Given the description of an element on the screen output the (x, y) to click on. 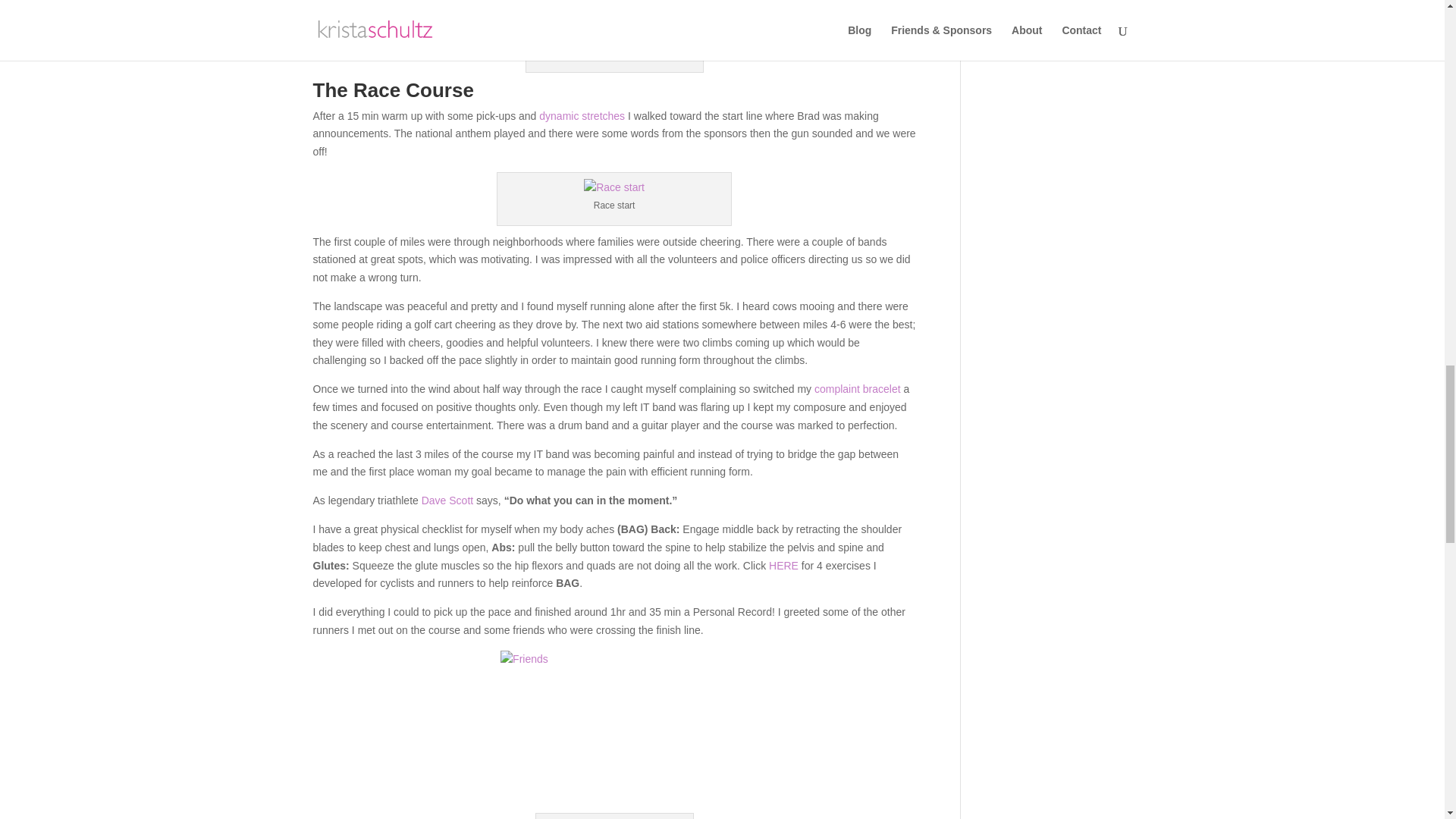
She Does Tri (626, 42)
complaint bracelet (857, 388)
HERE (782, 565)
She Does Tri (626, 42)
dynamic stretches (581, 115)
Endurance Works (629, 51)
Dave Scott (447, 500)
Endurance Works (629, 51)
